Given the description of an element on the screen output the (x, y) to click on. 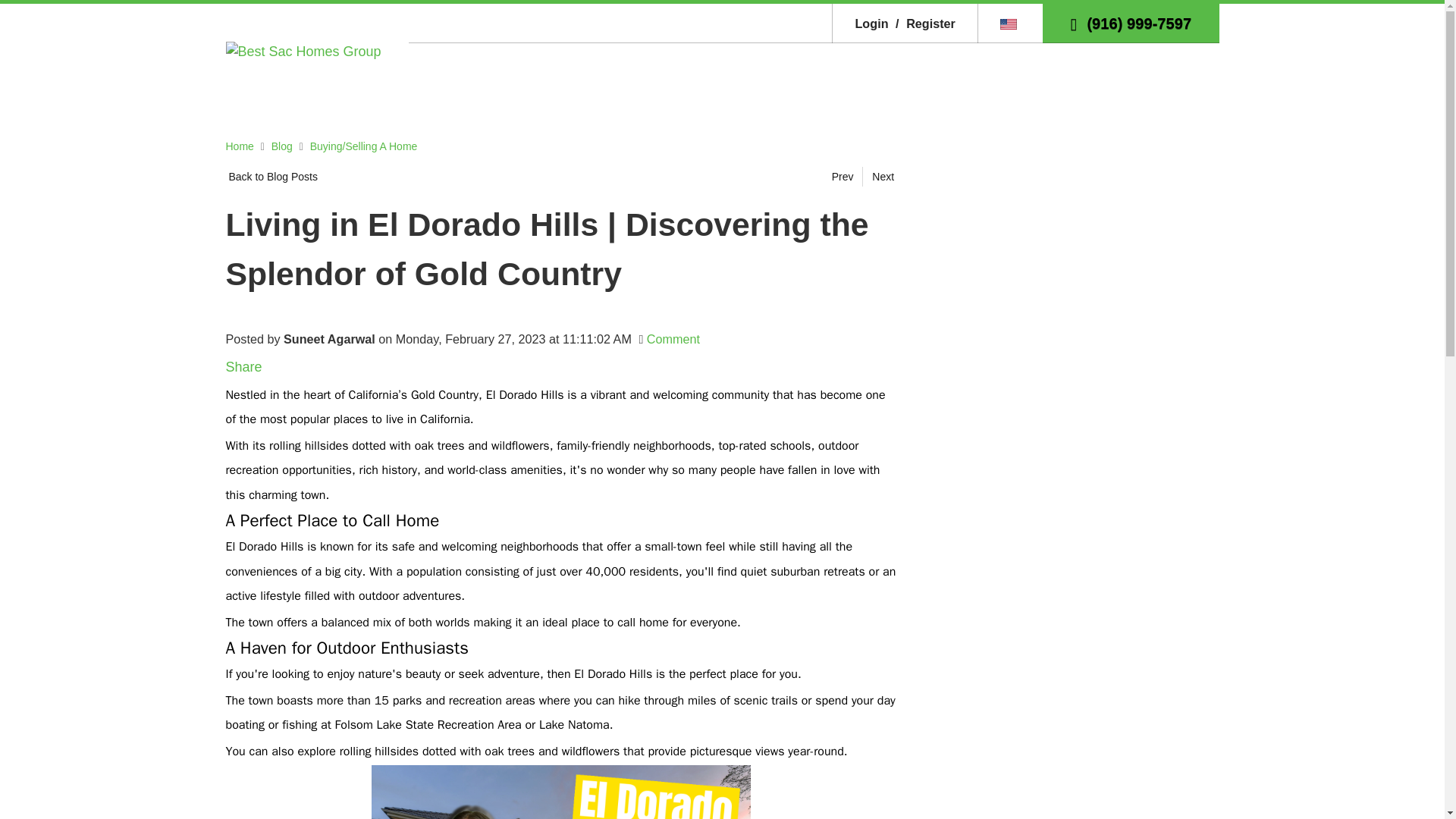
Register (923, 23)
Login (871, 23)
Home Page (303, 50)
Select Language (1010, 23)
